Given the description of an element on the screen output the (x, y) to click on. 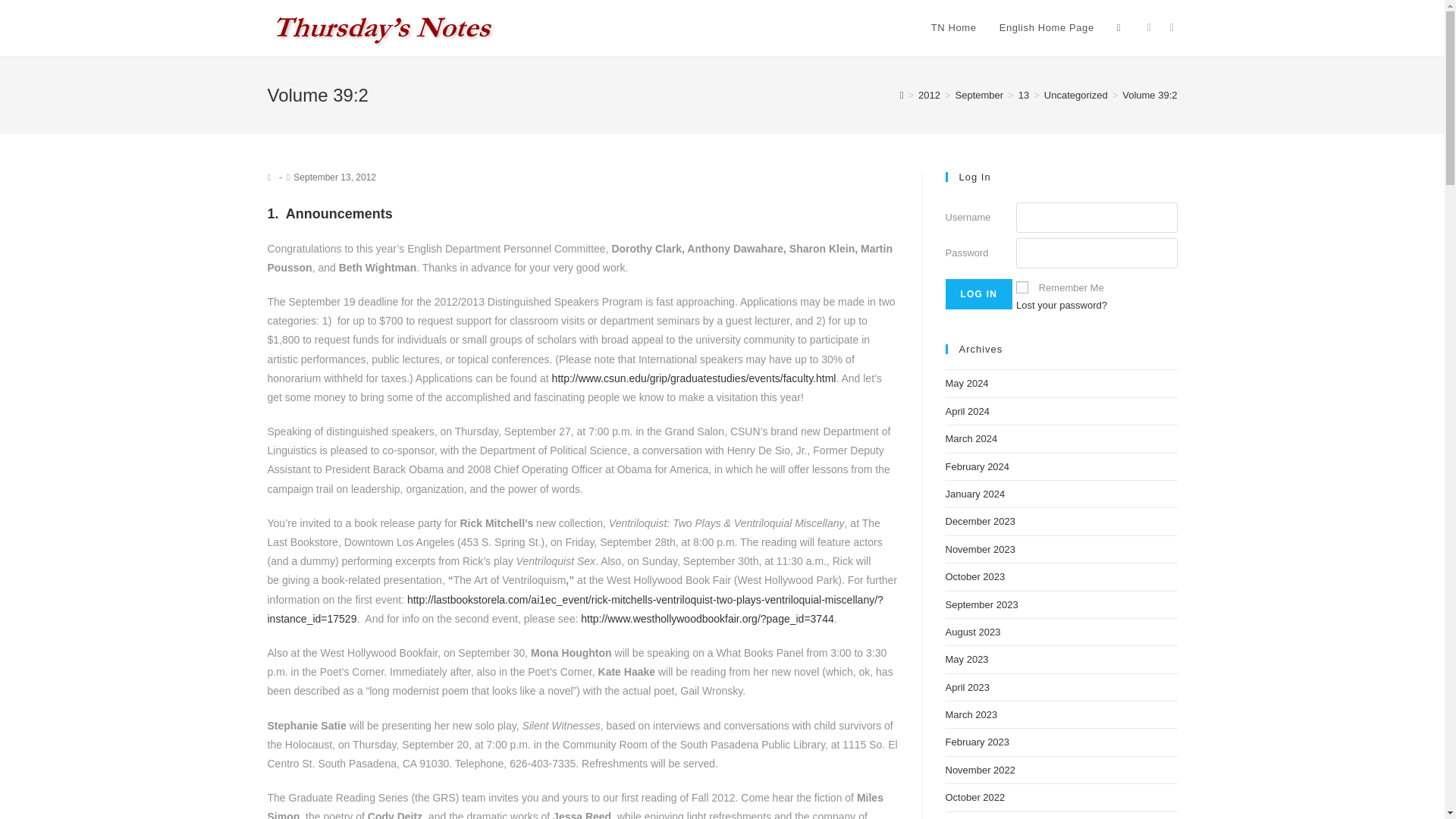
Rick Mitchell at the West Hollywood Bookfair (707, 618)
September (979, 94)
Log In (977, 294)
Password Lost and Found (1061, 305)
13 (1023, 94)
Rick Mictchell's Book Release Party (574, 608)
Log In (977, 294)
Volume 39:2 (1149, 94)
forever (1021, 287)
Uncategorized (1075, 94)
